Given the description of an element on the screen output the (x, y) to click on. 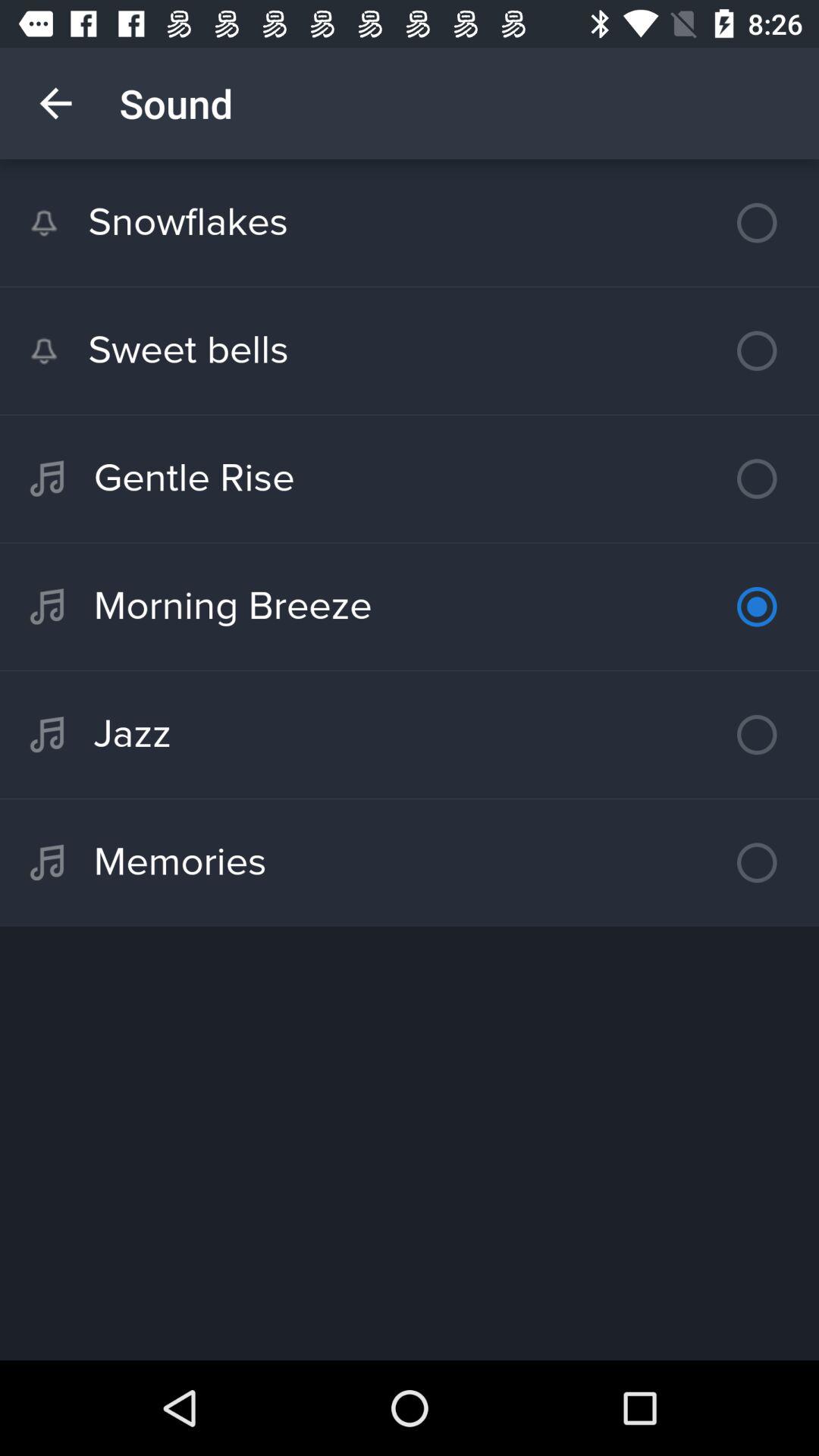
click the icon above sweet bells (409, 222)
